Given the description of an element on the screen output the (x, y) to click on. 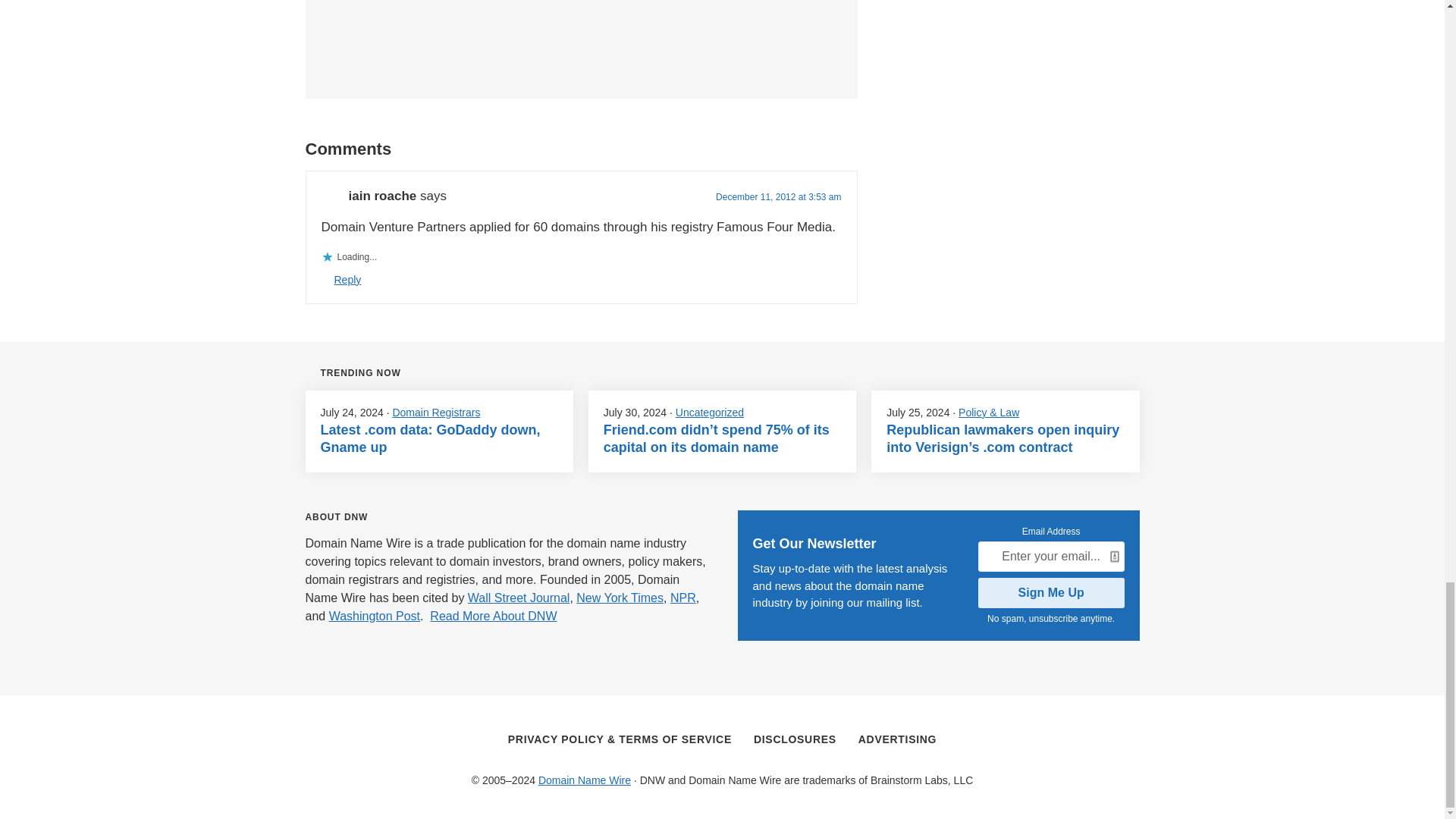
Comment Form (580, 41)
Sign Me Up (1051, 593)
